Given the description of an element on the screen output the (x, y) to click on. 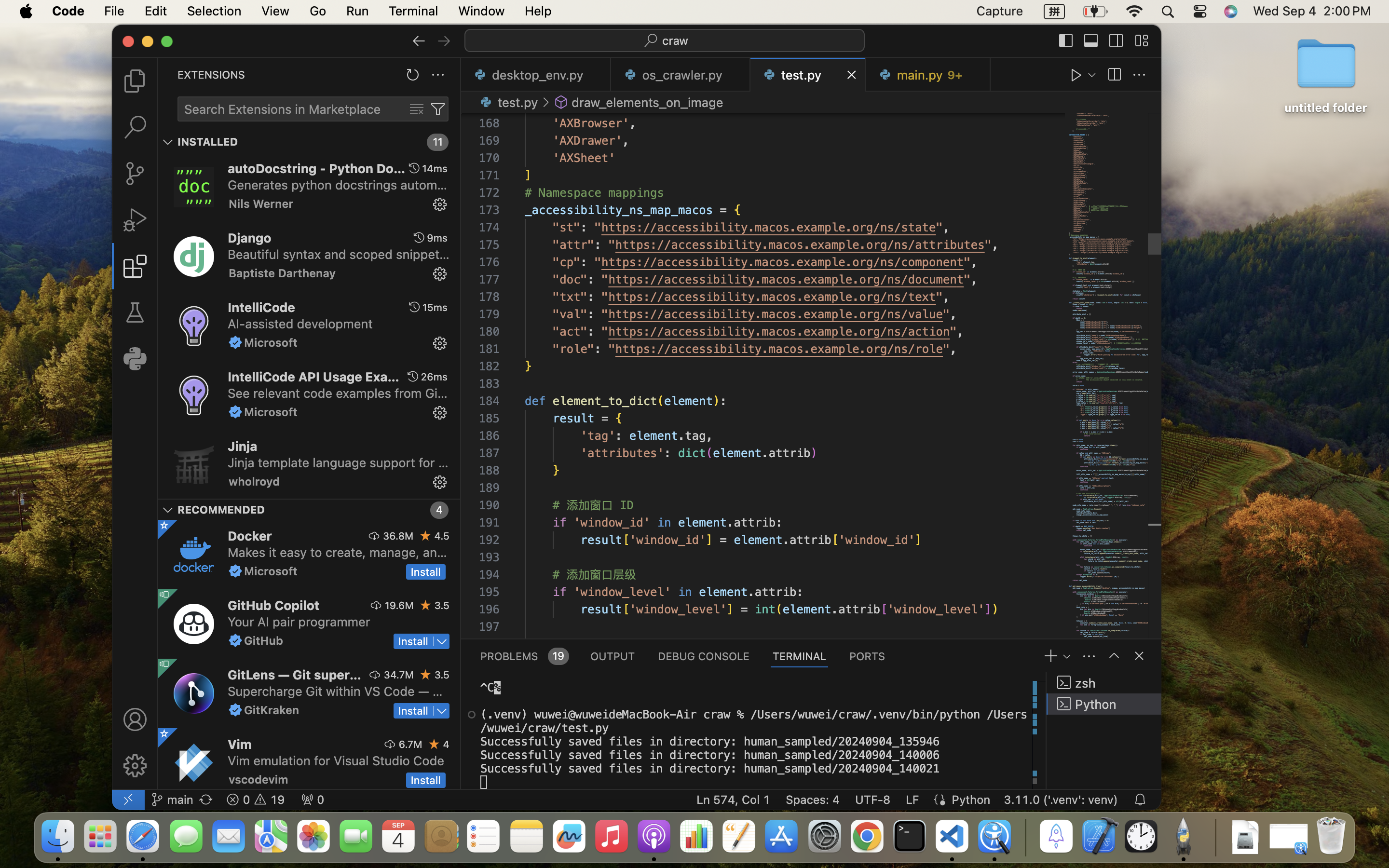
36.8M Element type: AXStaticText (397, 535)
3.5 Element type: AXStaticText (441, 674)
1  Element type: AXRadioButton (134, 266)
 Element type: AXStaticText (164, 524)
Search Extensions in Marketplace Element type: AXStaticText (282, 109)
